Given the description of an element on the screen output the (x, y) to click on. 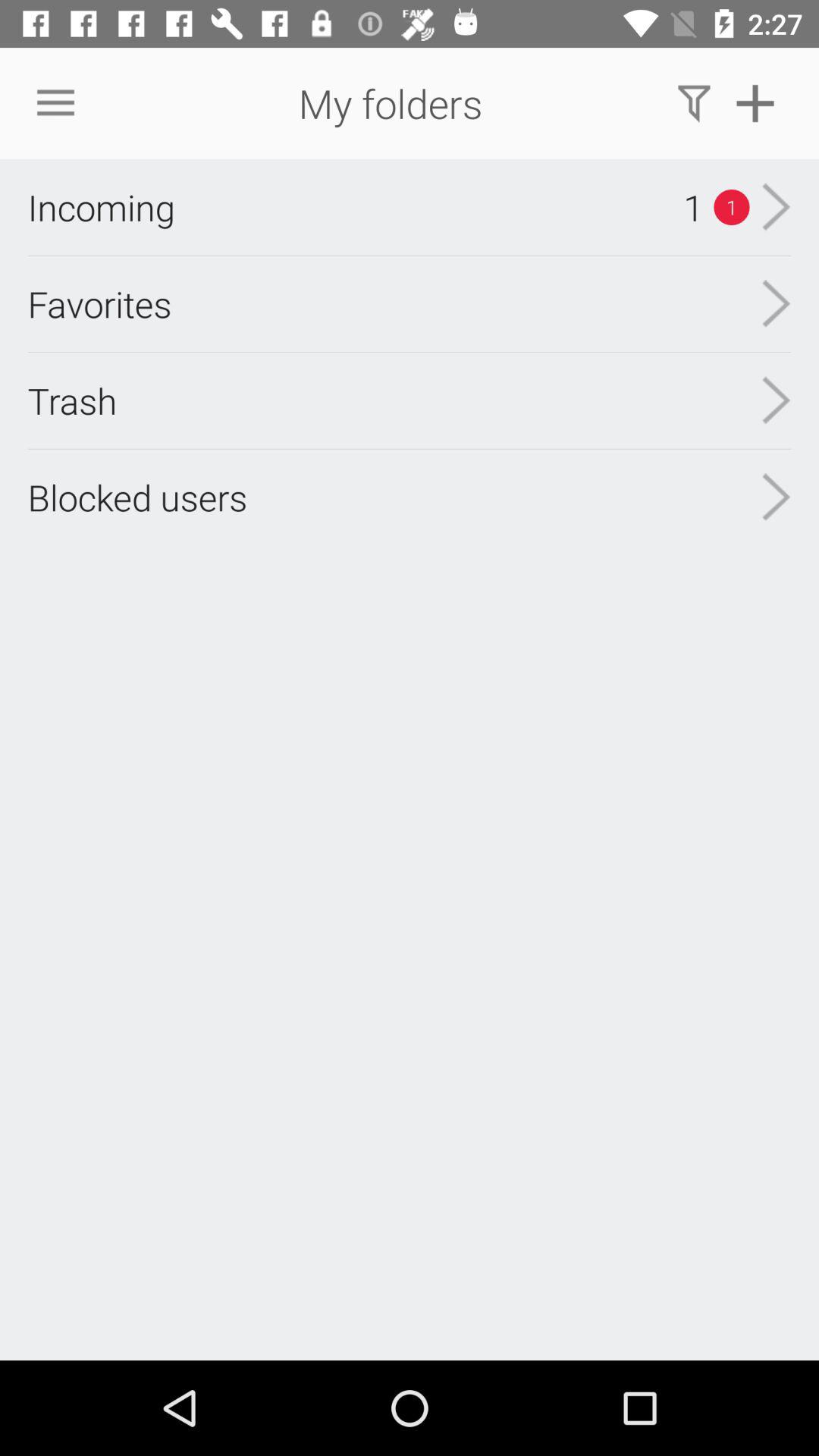
launch the blocked users item (137, 497)
